Given the description of an element on the screen output the (x, y) to click on. 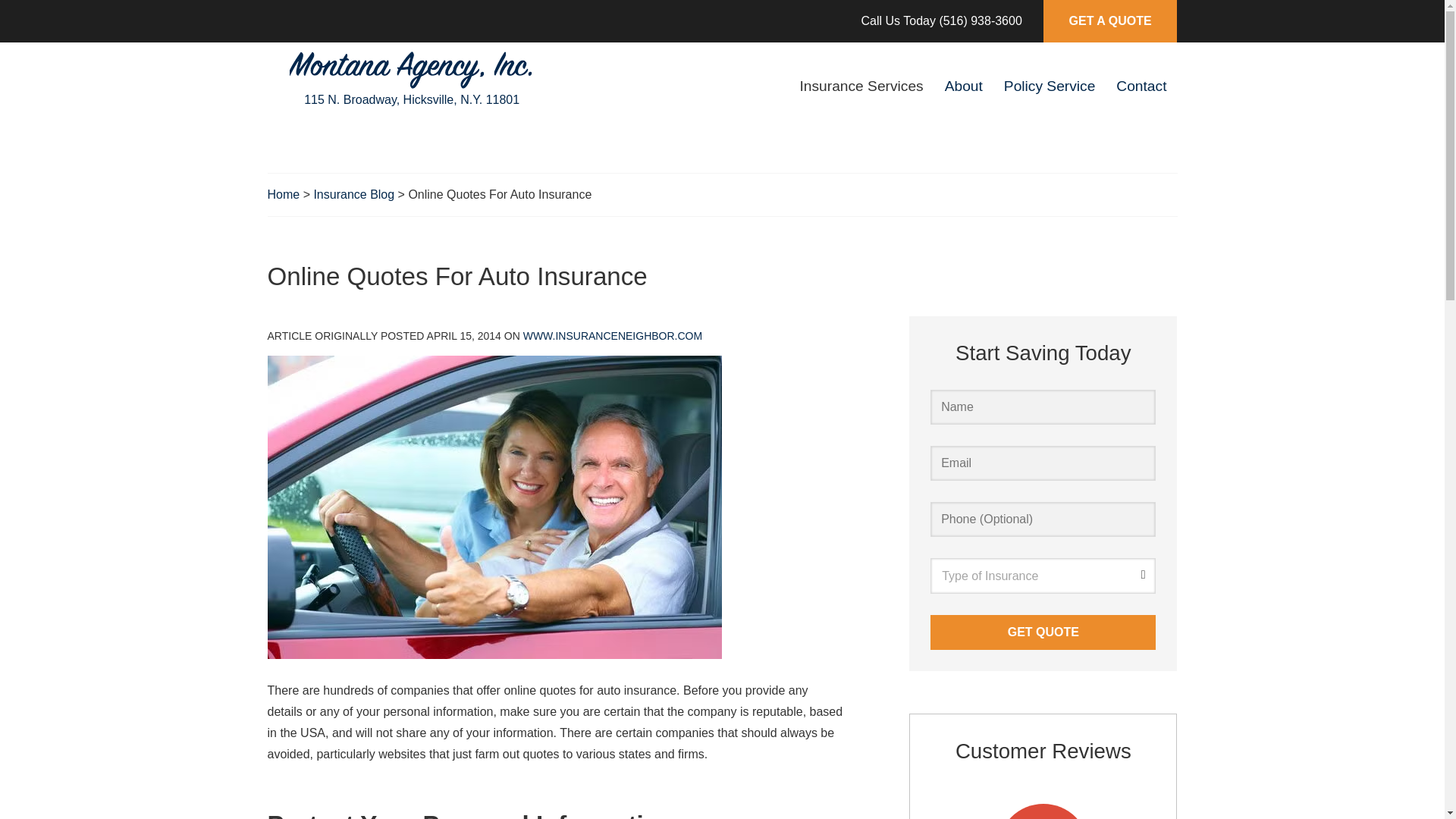
cropped-montana2-3.png (411, 65)
GET A QUOTE (1110, 21)
Insurance Services (861, 85)
Get Quote (1043, 632)
